Given the description of an element on the screen output the (x, y) to click on. 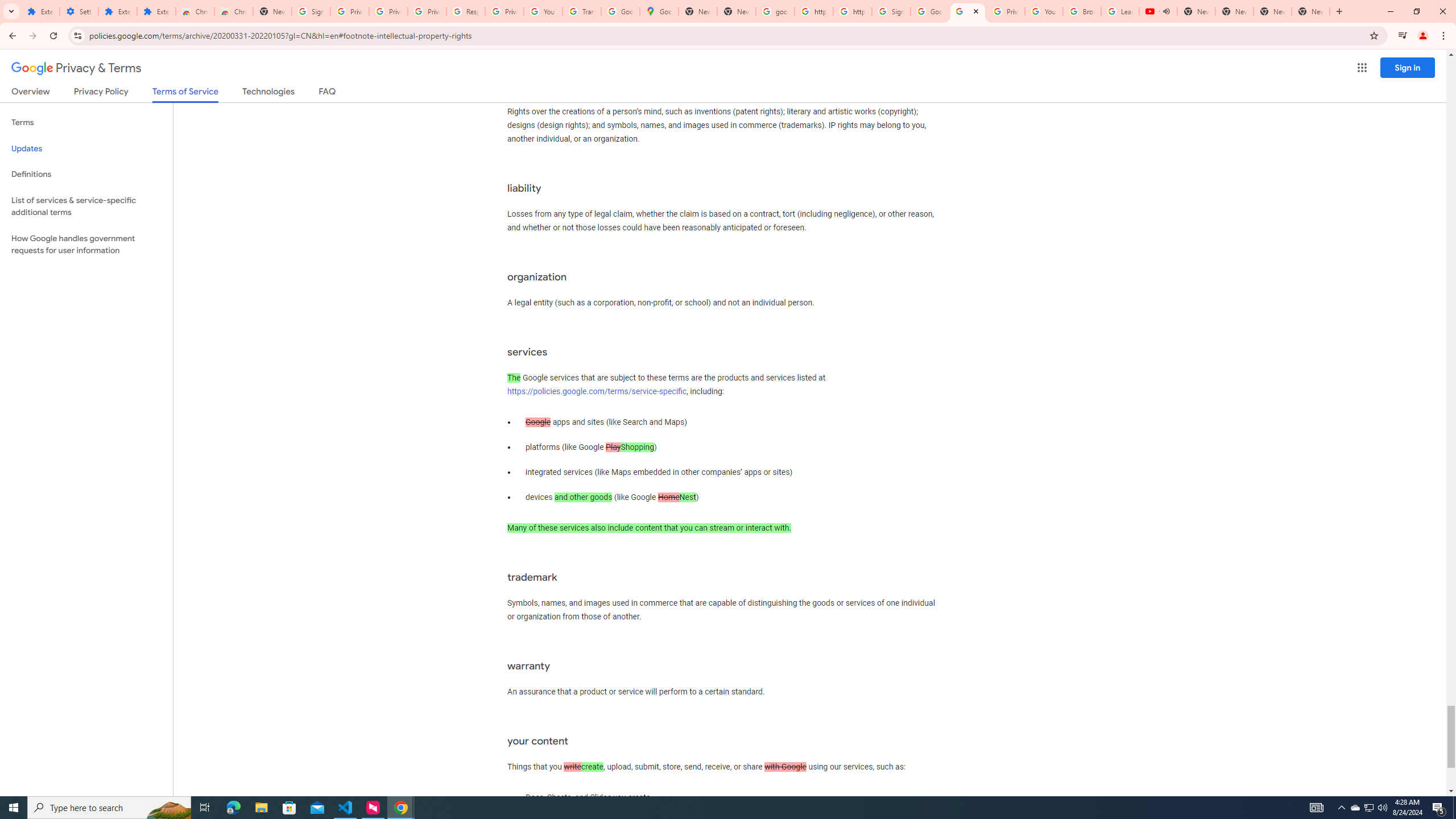
https://policies.google.com/terms/service-specific (596, 391)
Chrome Web Store (194, 11)
